Given the description of an element on the screen output the (x, y) to click on. 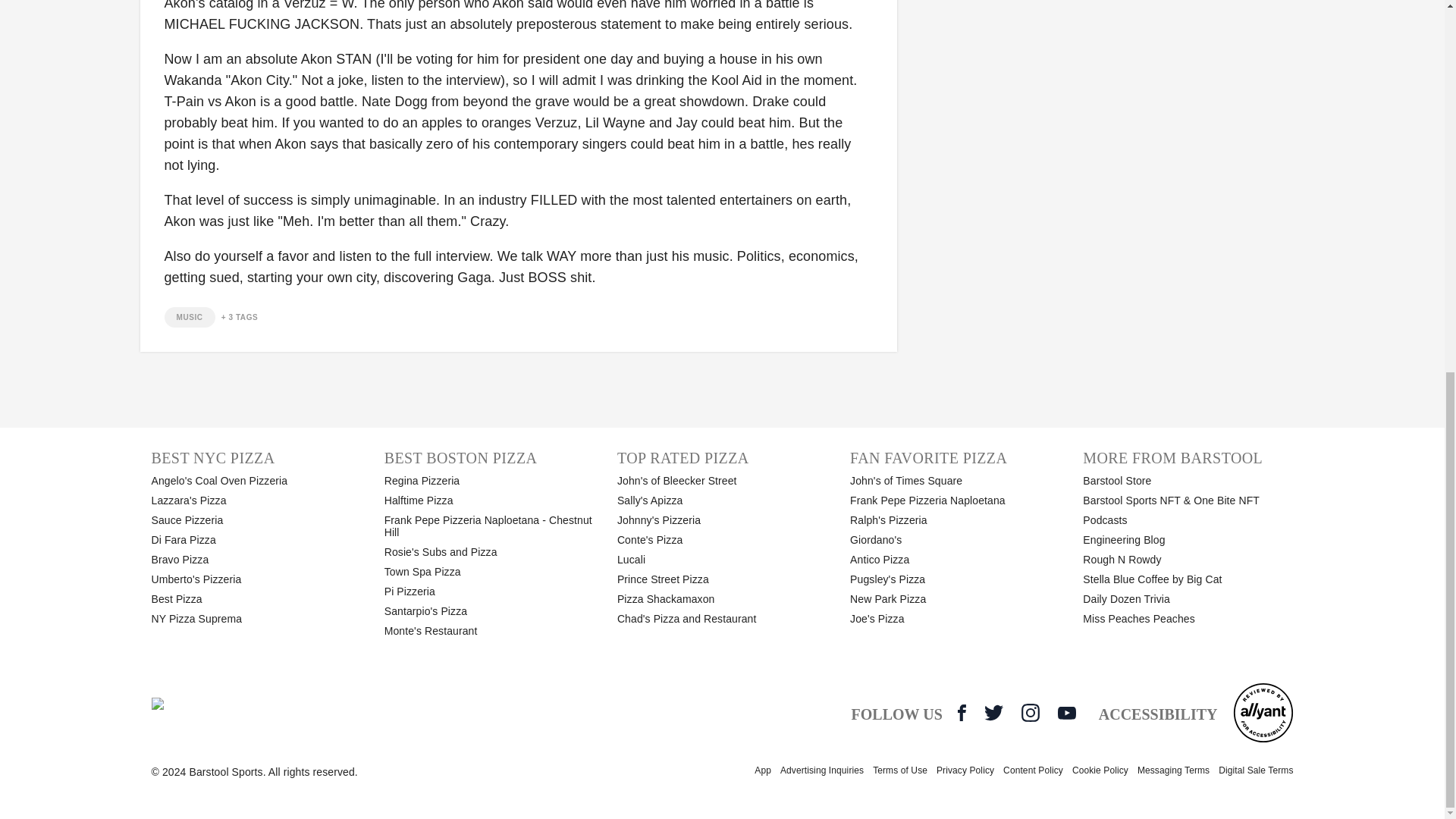
Instagram Icon (1030, 712)
Twitter Icon (993, 712)
Reviewed by Allyant for accessibility (1263, 712)
YouTube Icon (1066, 712)
